Given the description of an element on the screen output the (x, y) to click on. 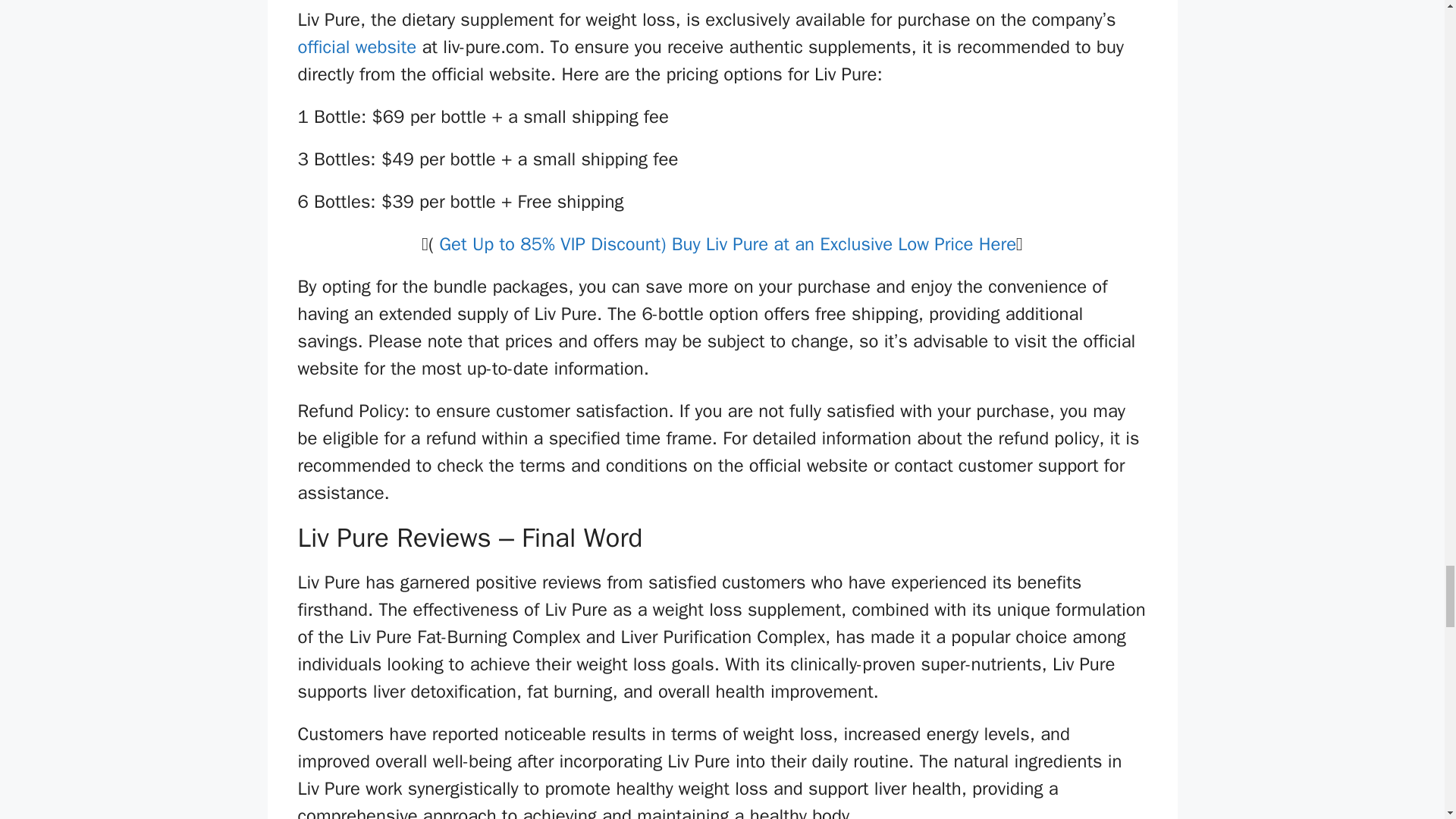
official website (356, 47)
